Given the description of an element on the screen output the (x, y) to click on. 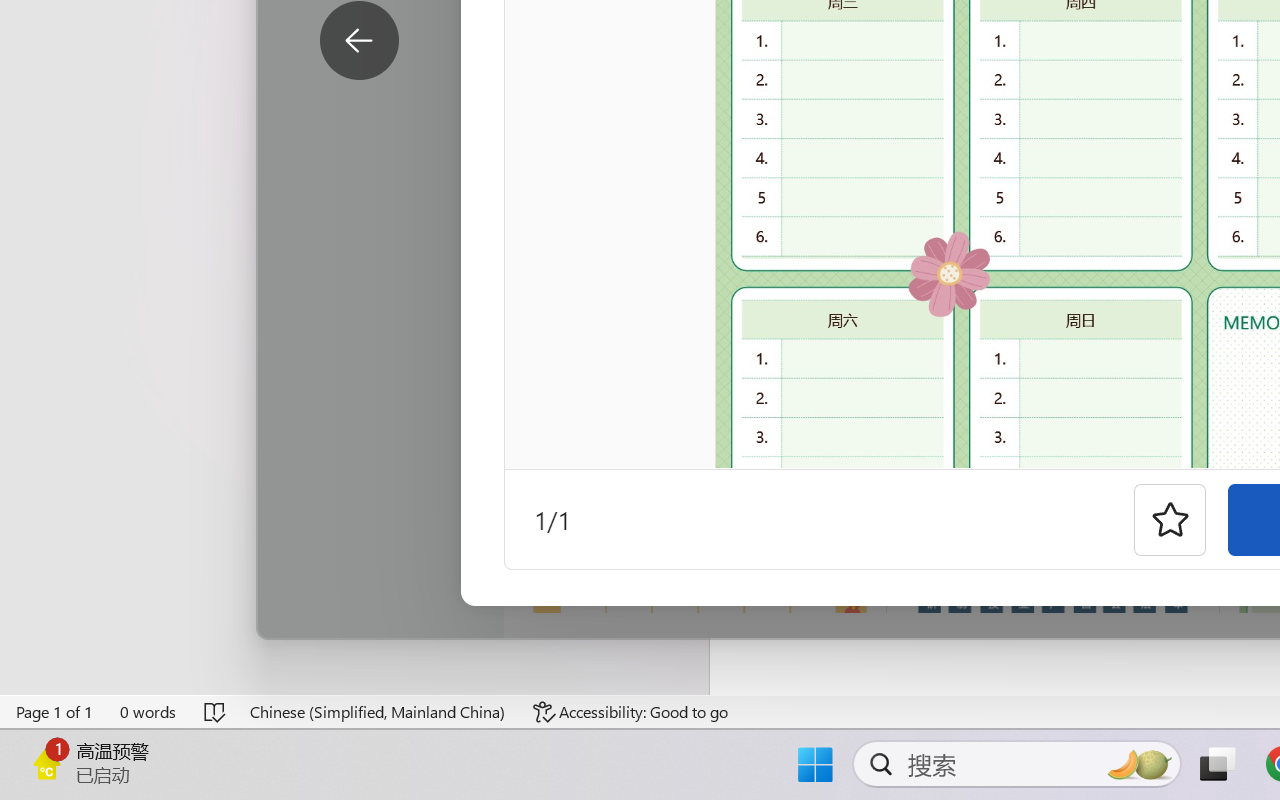
Language Chinese (Simplified, Mainland China) (378, 712)
